Given the description of an element on the screen output the (x, y) to click on. 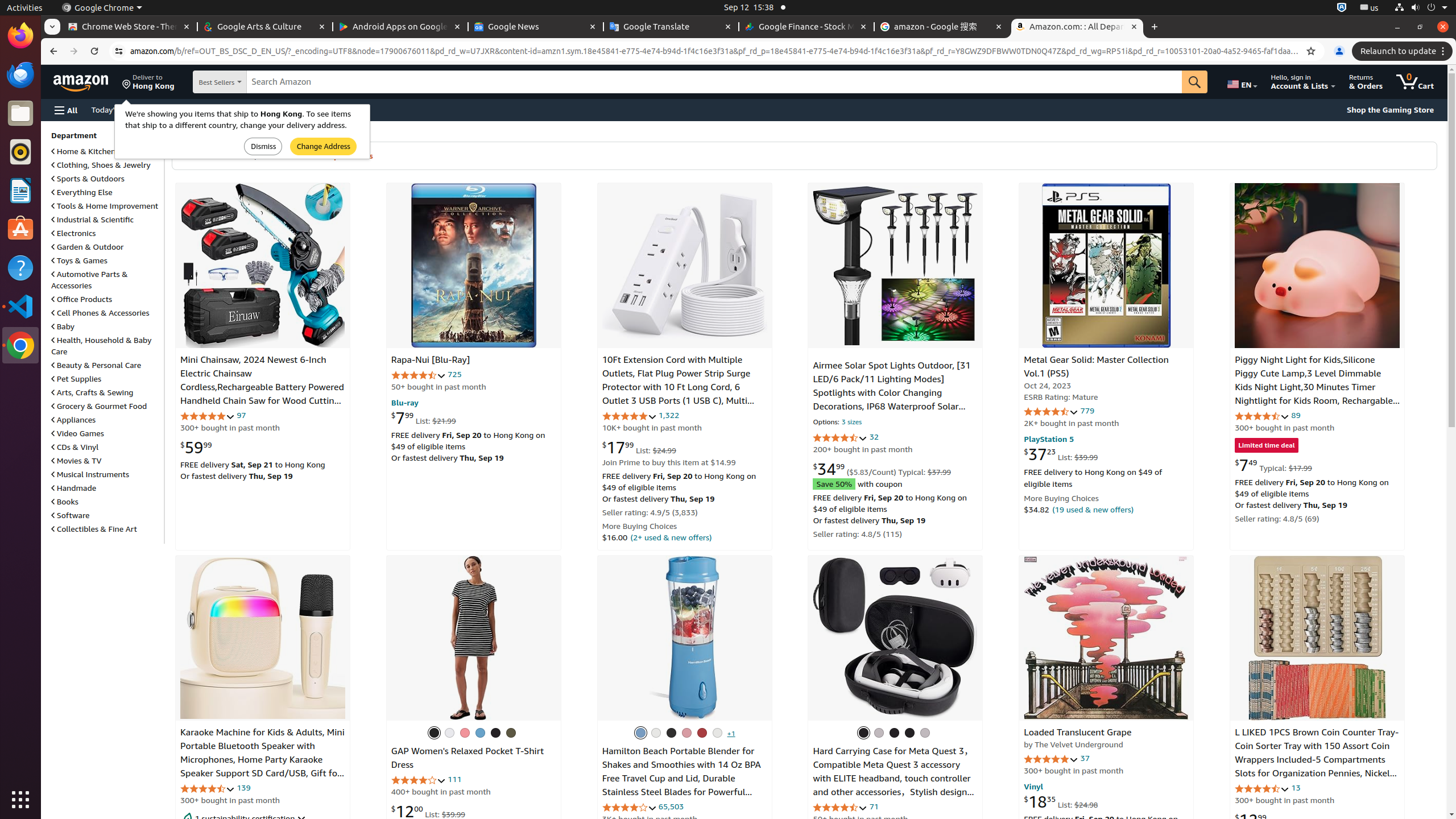
Rhythmbox Element type: push-button (20, 151)
Movies & TV Element type: link (76, 460)
Red Element type: push-button (701, 732)
Airmee Solar Spot Lights Outdoor, [31 LED/6 Pack/11 Lighting Modes] Spotlights with Color Changing Decorations, IP68 Waterproof Solar Lights for Outside Yard Garden Pathway, Cold White+Multicolor Element type: link (891, 399)
4.7 out of 5 stars Element type: push-button (207, 788)
